Given the description of an element on the screen output the (x, y) to click on. 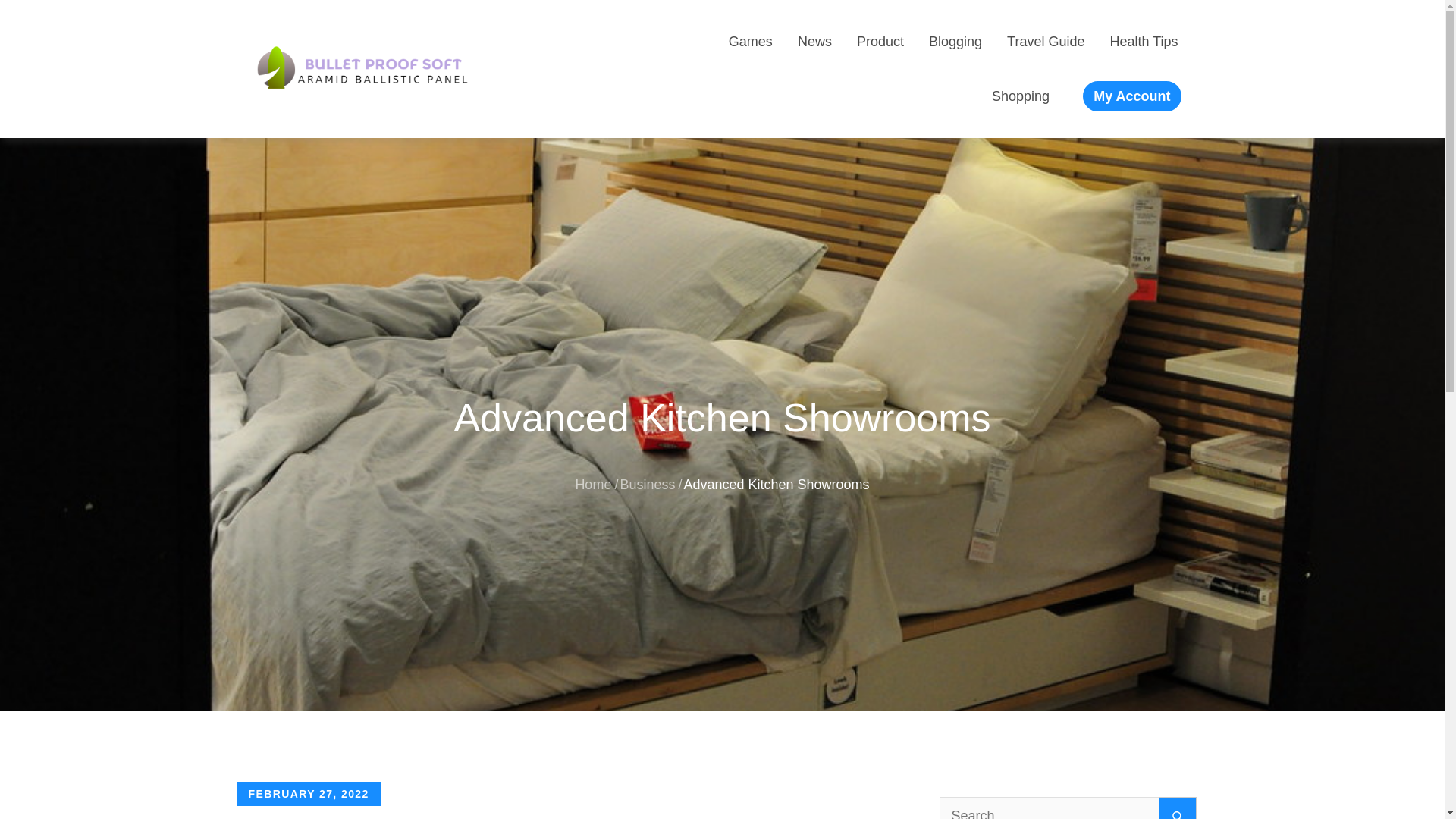
Travel Guide (1045, 41)
Shopping (1020, 95)
FEBRUARY 27, 2022 (307, 793)
Games (750, 41)
Health Tips (1143, 41)
Bullet Proof Soft (565, 81)
My Account (1131, 96)
Blogging (955, 41)
Search (1177, 807)
Business (647, 484)
Home (593, 484)
Product (880, 41)
